Given the description of an element on the screen output the (x, y) to click on. 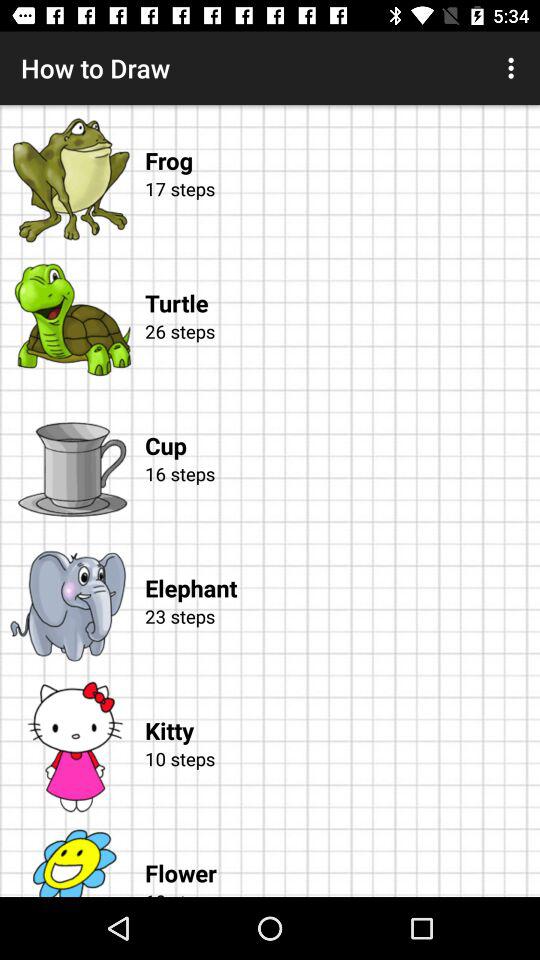
tap the 16 steps (339, 496)
